Given the description of an element on the screen output the (x, y) to click on. 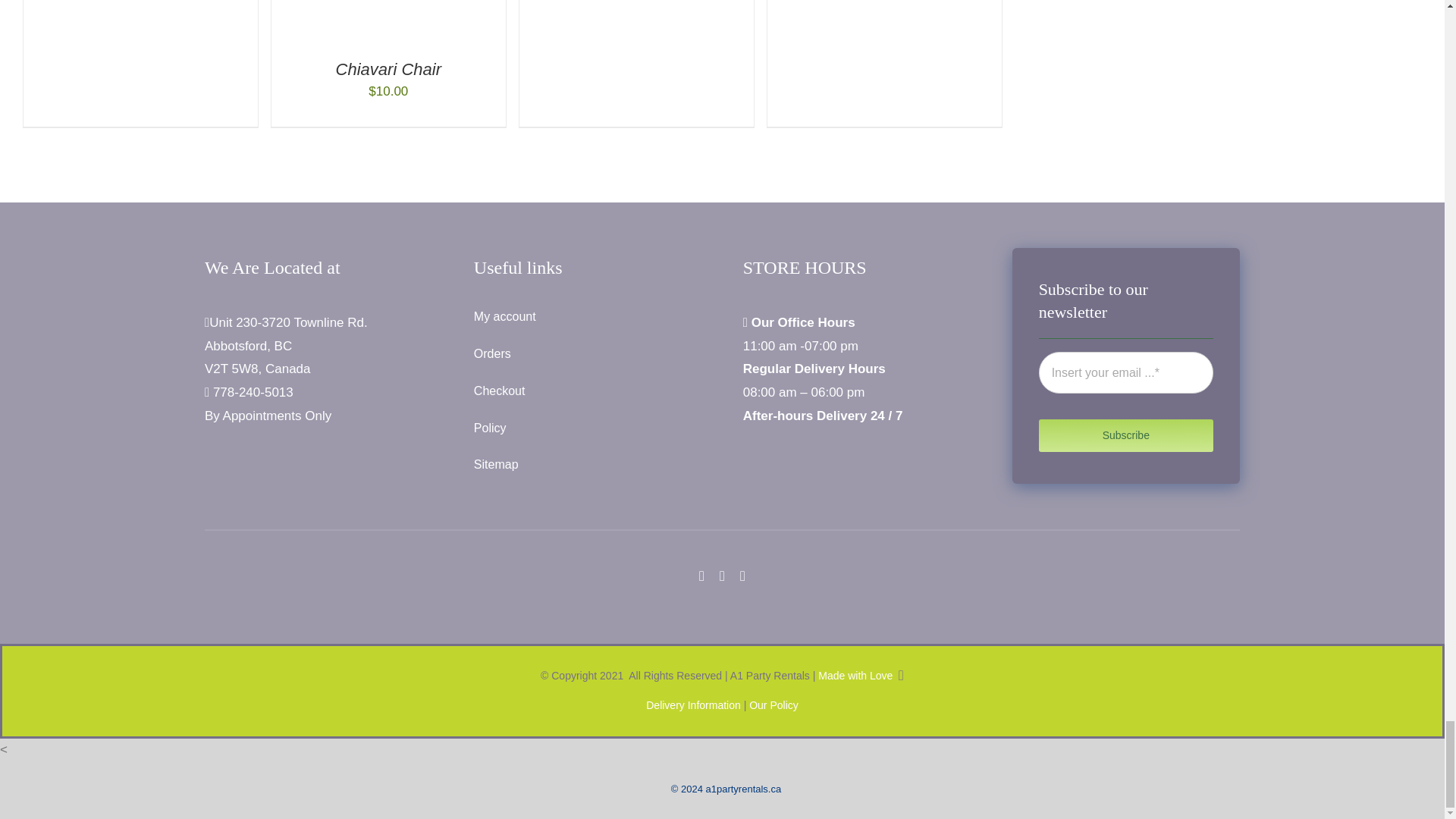
Subscribe (1125, 393)
